Given the description of an element on the screen output the (x, y) to click on. 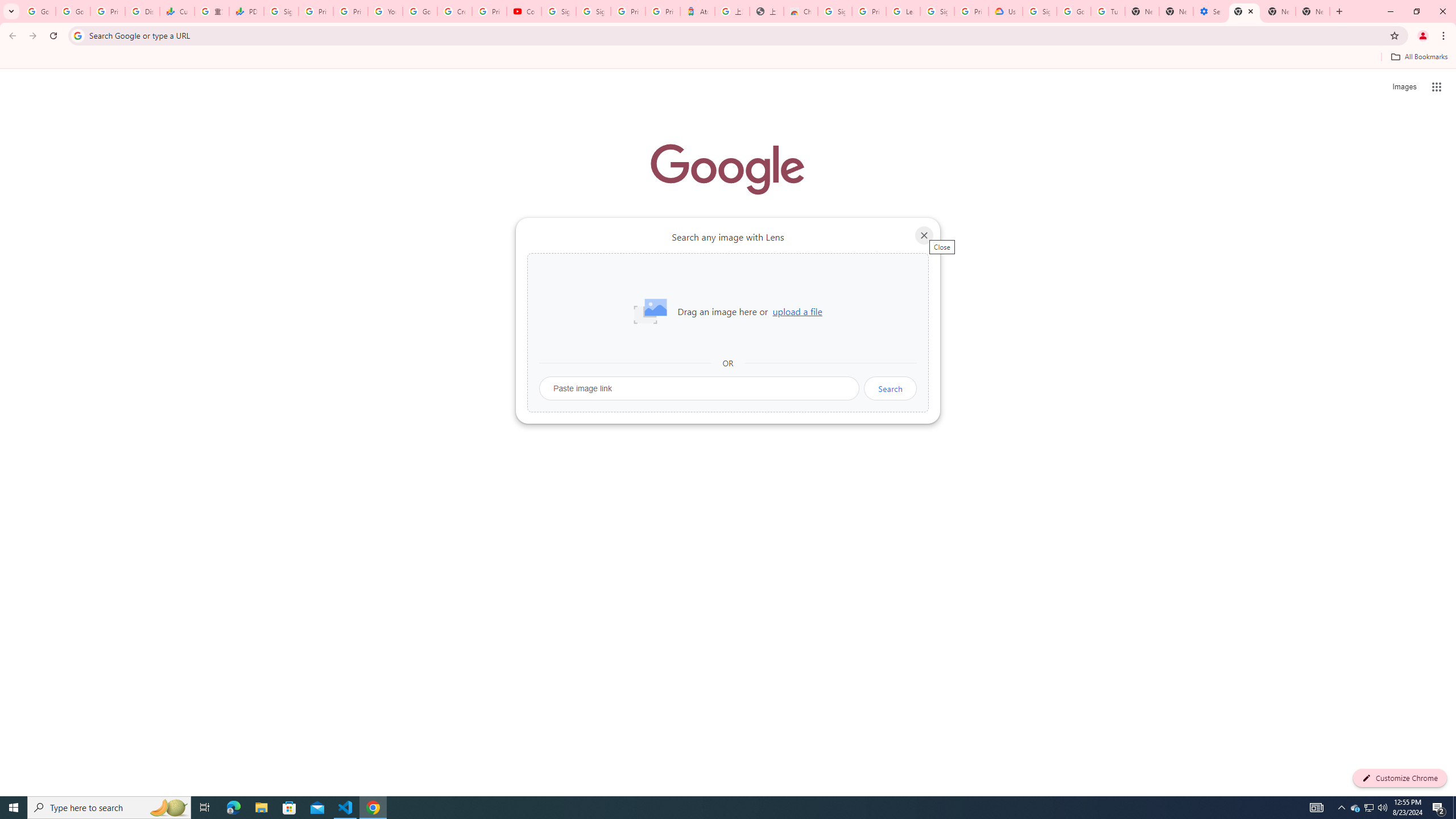
Sign in - Google Accounts (1039, 11)
Chrome Web Store - Color themes by Chrome (800, 11)
Paste image link (699, 388)
Sign in - Google Accounts (834, 11)
